Given the description of an element on the screen output the (x, y) to click on. 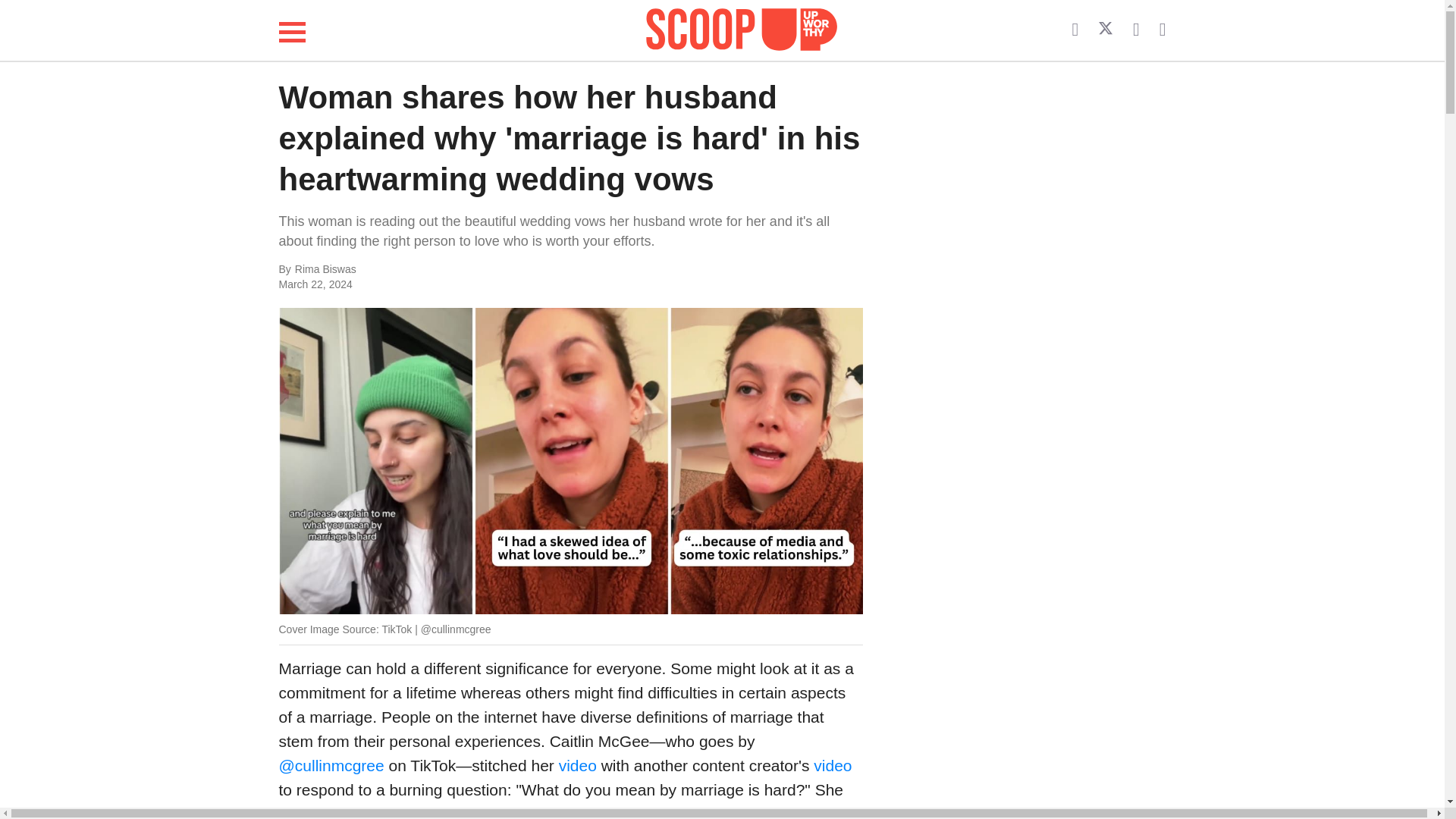
Rima Biswas (445, 269)
video (832, 764)
SCOOP UPWORTHY (741, 29)
SCOOP UPWORTHY (741, 27)
video (577, 764)
